Given the description of an element on the screen output the (x, y) to click on. 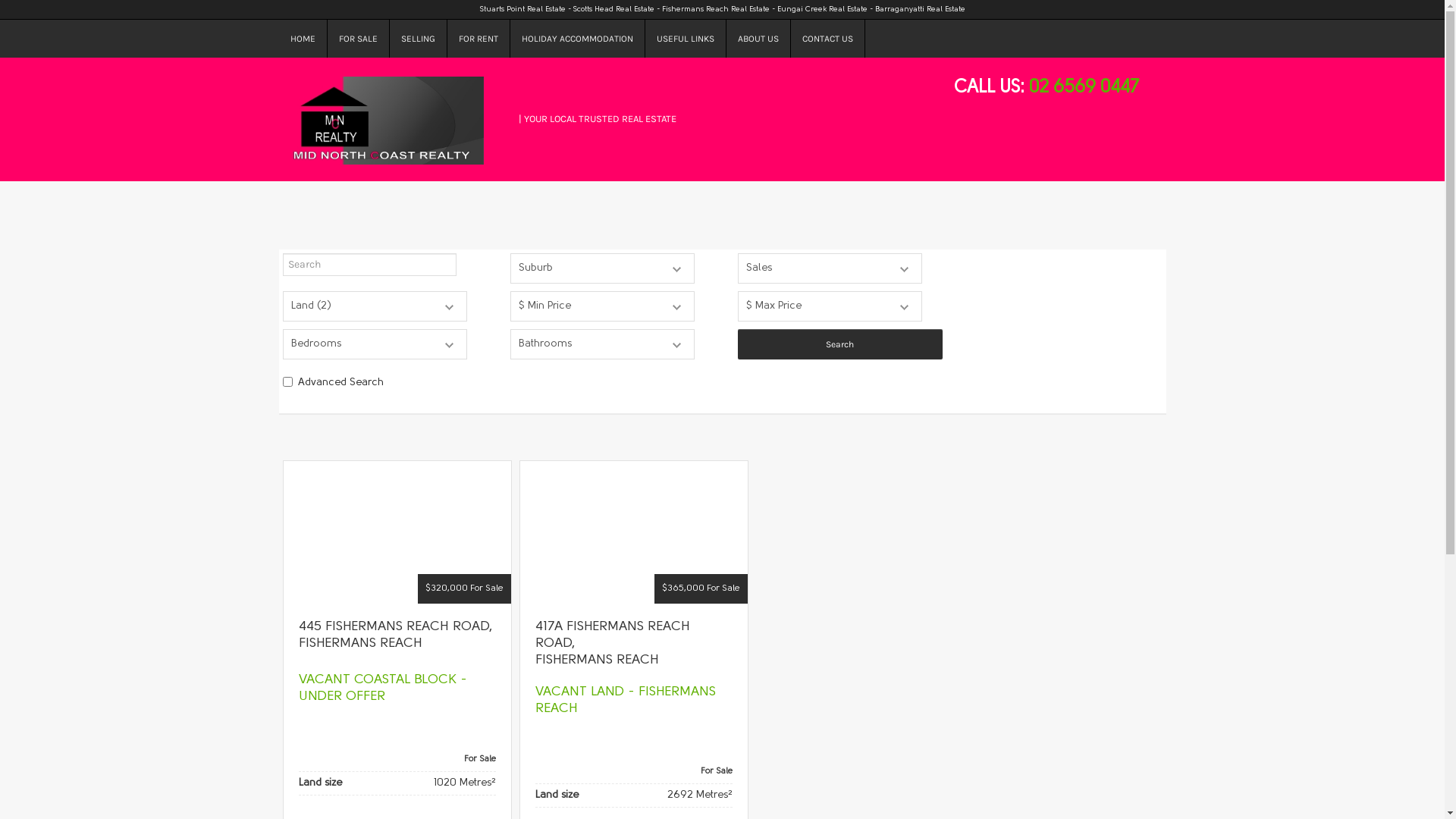
Search Element type: text (839, 344)
VACANT LAND - FISHERMANS REACH Element type: text (625, 699)
$365,000 For Sale Element type: text (633, 532)
417A FISHERMANS REACH ROAD,
FISHERMANS REACH Element type: text (612, 643)
VACANT COASTAL BLOCK - UNDER OFFER Element type: text (382, 687)
$320,000 For Sale Element type: text (397, 532)
USEFUL LINKS Element type: text (684, 38)
02 6569 0447 Element type: text (1083, 87)
HOLIDAY ACCOMMODATION Element type: text (576, 38)
ABOUT US Element type: text (758, 38)
CONTACT US Element type: text (827, 38)
on Element type: text (286, 381)
FOR RENT Element type: text (478, 38)
445 FISHERMANS REACH ROAD,
FISHERMANS REACH Element type: text (395, 634)
SELLING Element type: text (418, 38)
FOR SALE Element type: text (358, 38)
HOME Element type: text (303, 38)
